Given the description of an element on the screen output the (x, y) to click on. 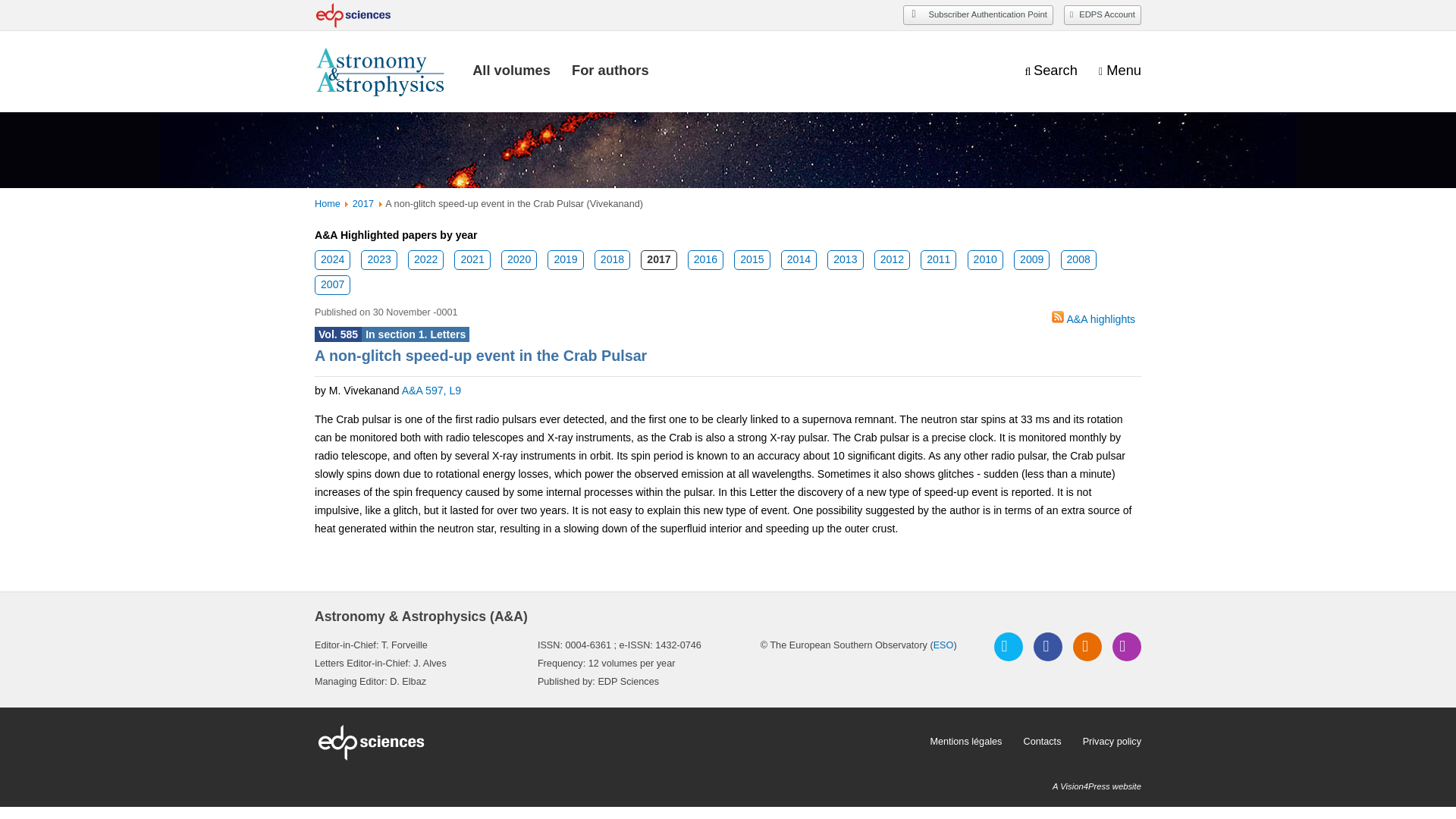
EDP Sciences website (616, 742)
Menu (1120, 71)
Follow us on twitter (1008, 646)
Follow us on Facebook (1047, 646)
All volumes (510, 70)
Journal homepage (382, 71)
For authors (610, 70)
Alerte courriel (1126, 646)
Display the search engine (1051, 71)
